Given the description of an element on the screen output the (x, y) to click on. 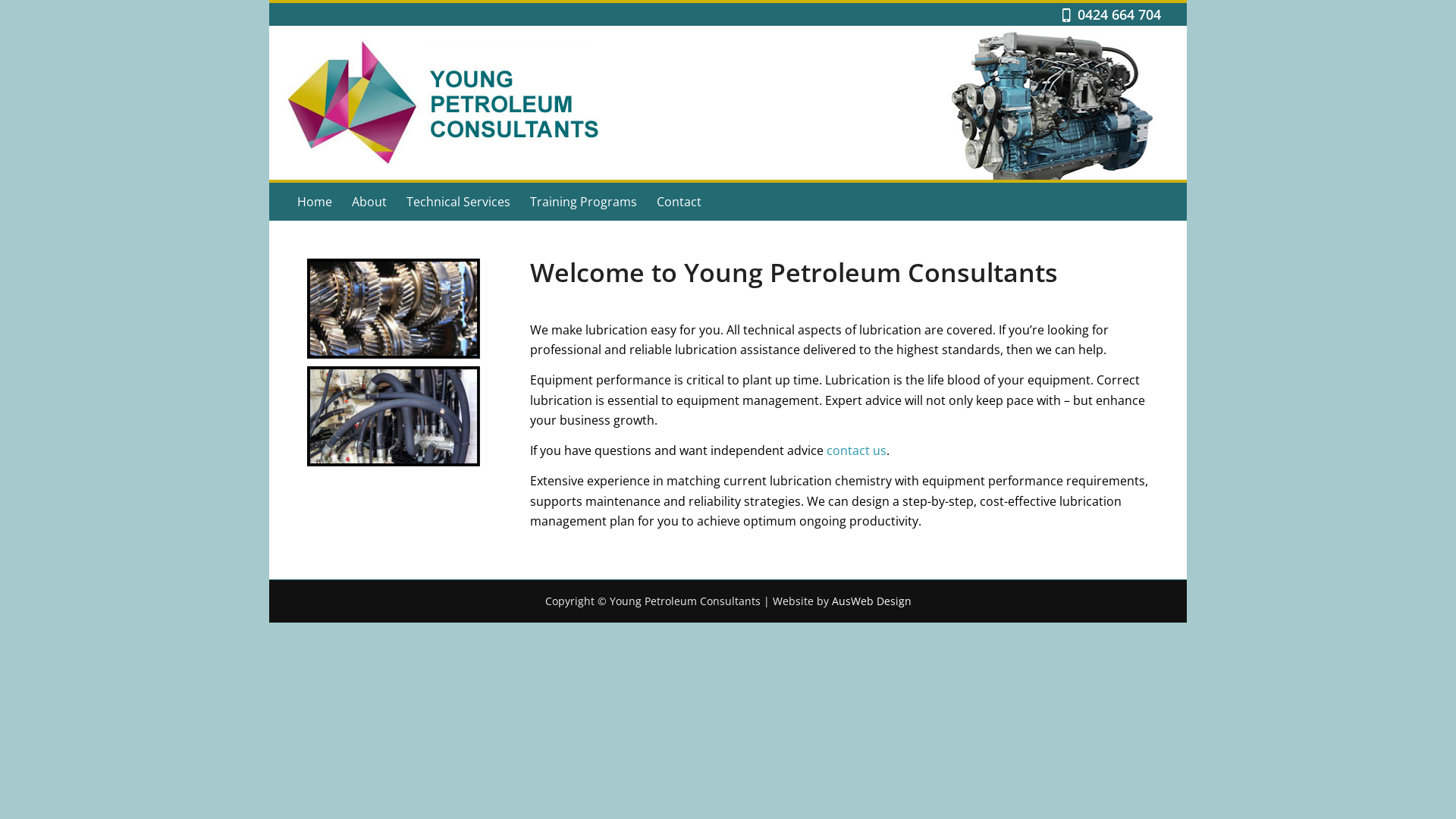
0424 664 704 Element type: text (1122, 14)
Technical Services Element type: text (458, 201)
Home Element type: text (314, 201)
home1 Element type: hover (393, 308)
Contact Element type: text (678, 201)
AusWeb Design Element type: text (870, 600)
Training Programs Element type: text (583, 201)
home2 Element type: hover (393, 416)
ypc Element type: hover (443, 102)
contact us Element type: text (856, 450)
About Element type: text (369, 201)
